Given the description of an element on the screen output the (x, y) to click on. 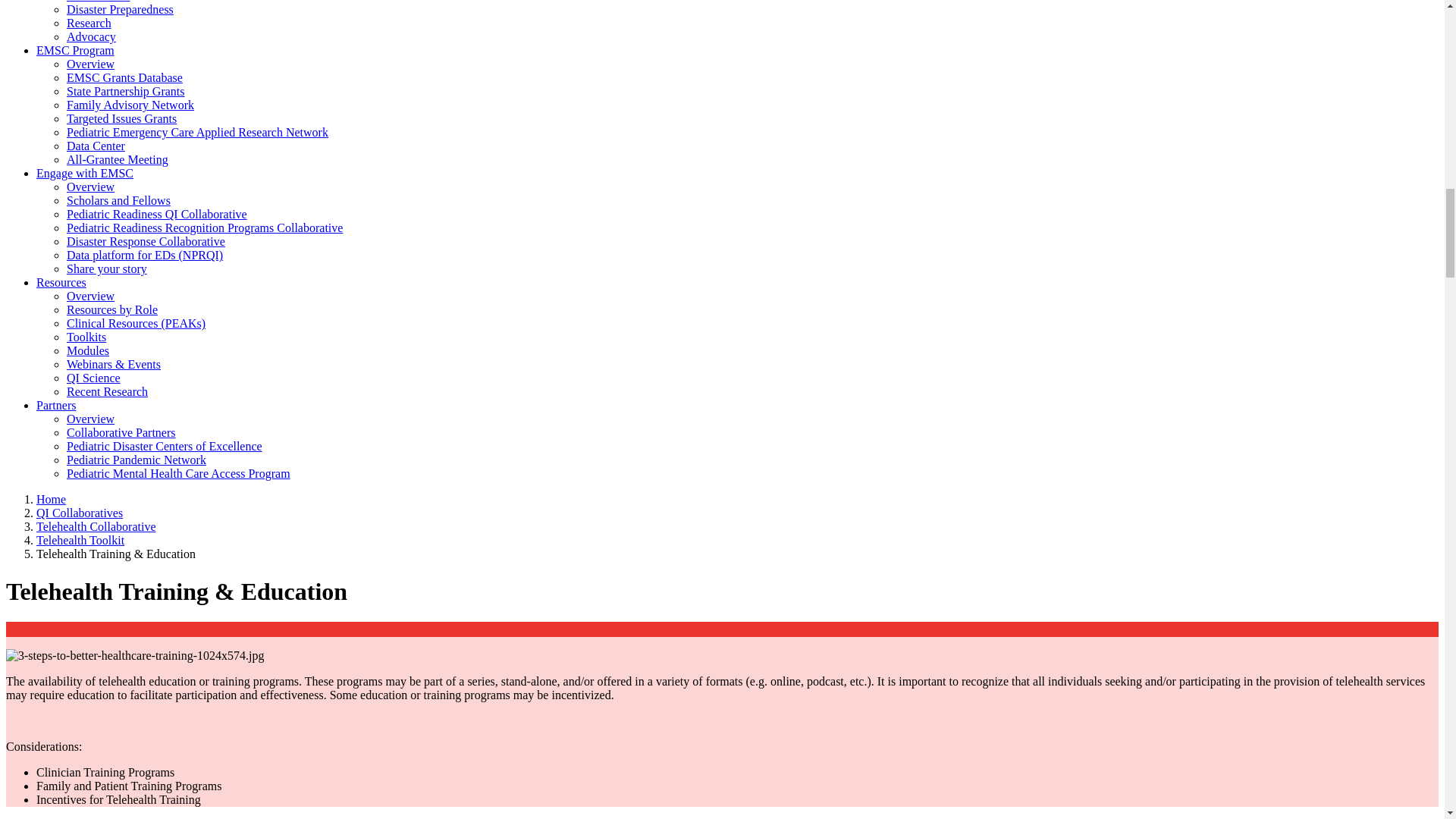
Research (89, 22)
Trauma Care (97, 1)
State Partnership Grants (125, 91)
Disaster Preparedness (119, 9)
EMSC Program (75, 50)
Pediatric Emergency Care Applied Research Network (197, 132)
Overview (90, 63)
Advocacy (91, 36)
Family Advisory Network (129, 104)
EMSC Grants Database (124, 77)
Overview (90, 186)
Data Center (95, 145)
Pediatric Readiness QI Collaborative (156, 214)
Pediatric Readiness Recognition Programs Collaborative (204, 227)
Targeted Issues Grants (121, 118)
